Given the description of an element on the screen output the (x, y) to click on. 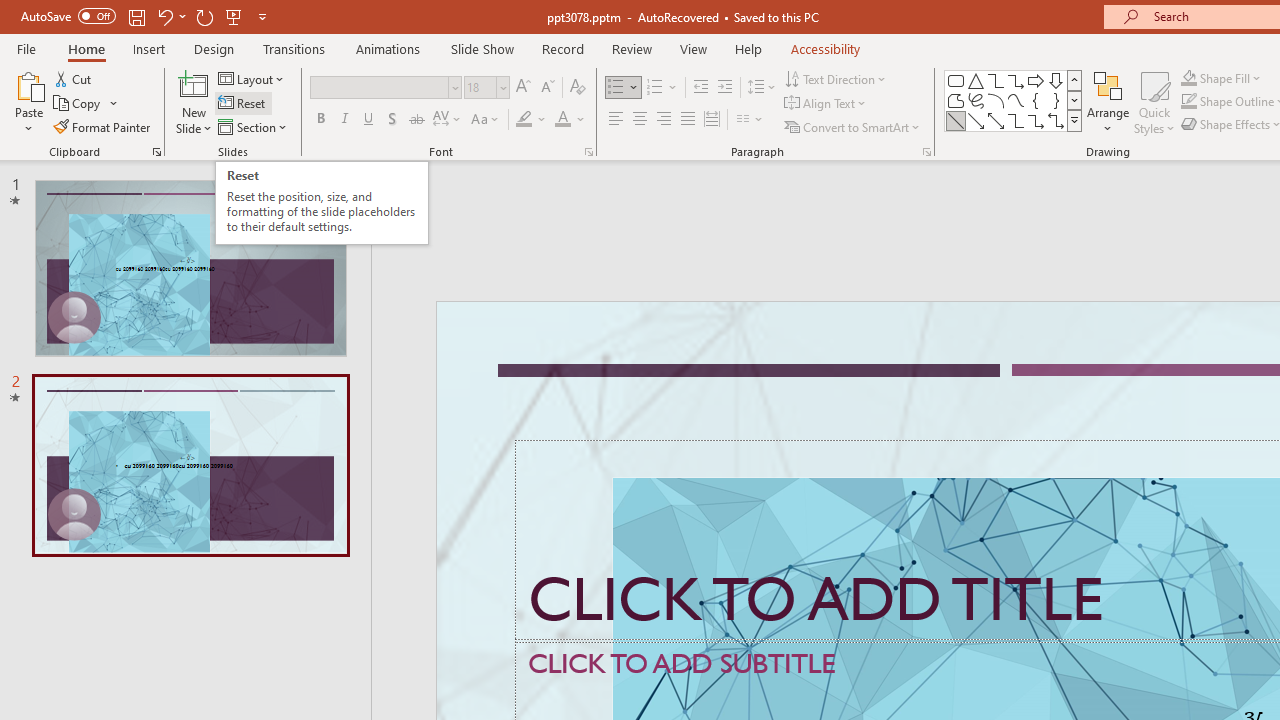
Bold (320, 119)
Copy (85, 103)
Clear Formatting (577, 87)
Rectangle: Rounded Corners (955, 80)
Office Clipboard... (156, 151)
Connector: Elbow Arrow (1035, 120)
Layout (252, 78)
Font Size (486, 87)
Open (502, 87)
